Given the description of an element on the screen output the (x, y) to click on. 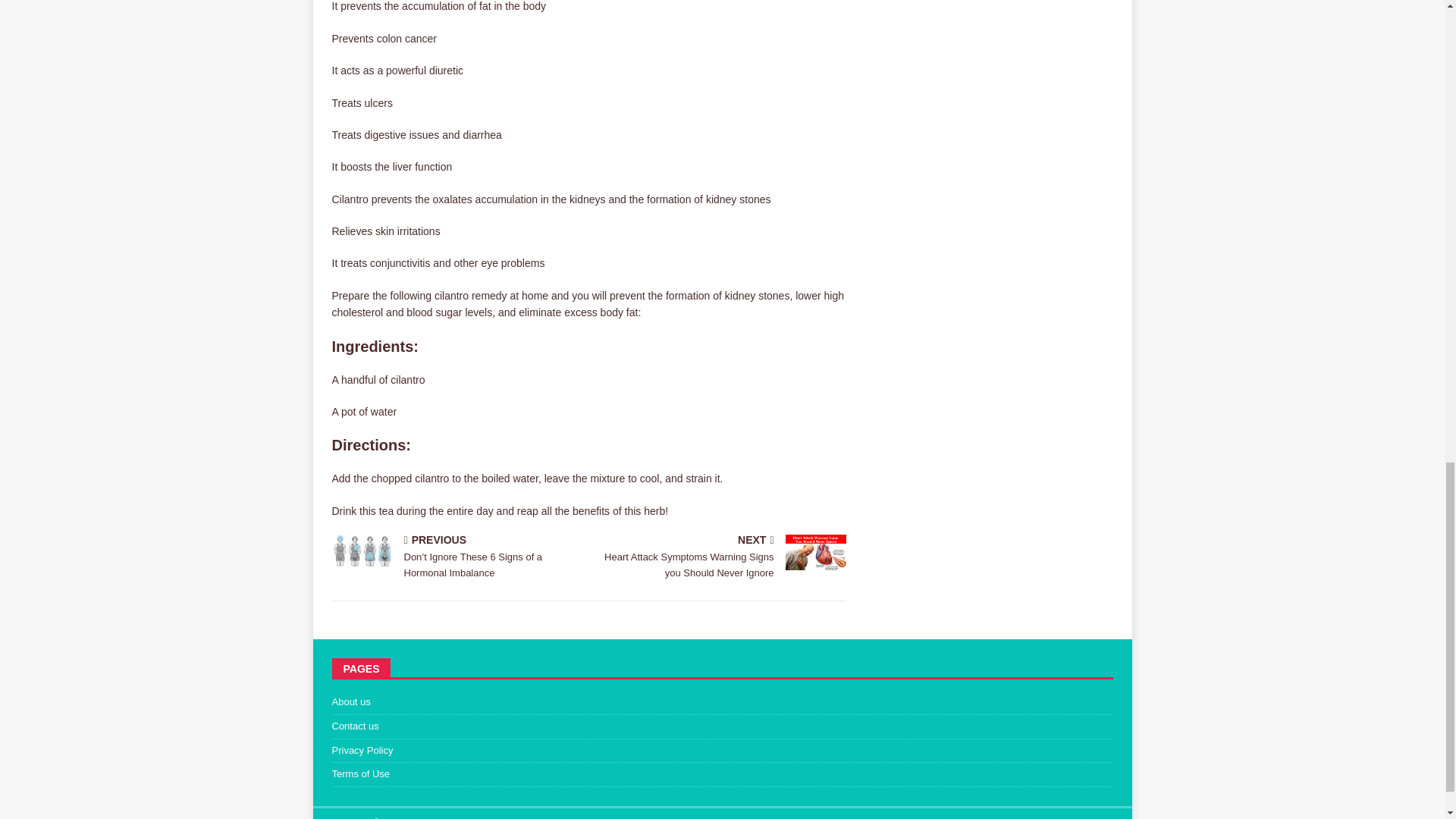
About us (722, 704)
Contact us (722, 726)
Terms of Use (722, 774)
Privacy Policy (722, 751)
